Given the description of an element on the screen output the (x, y) to click on. 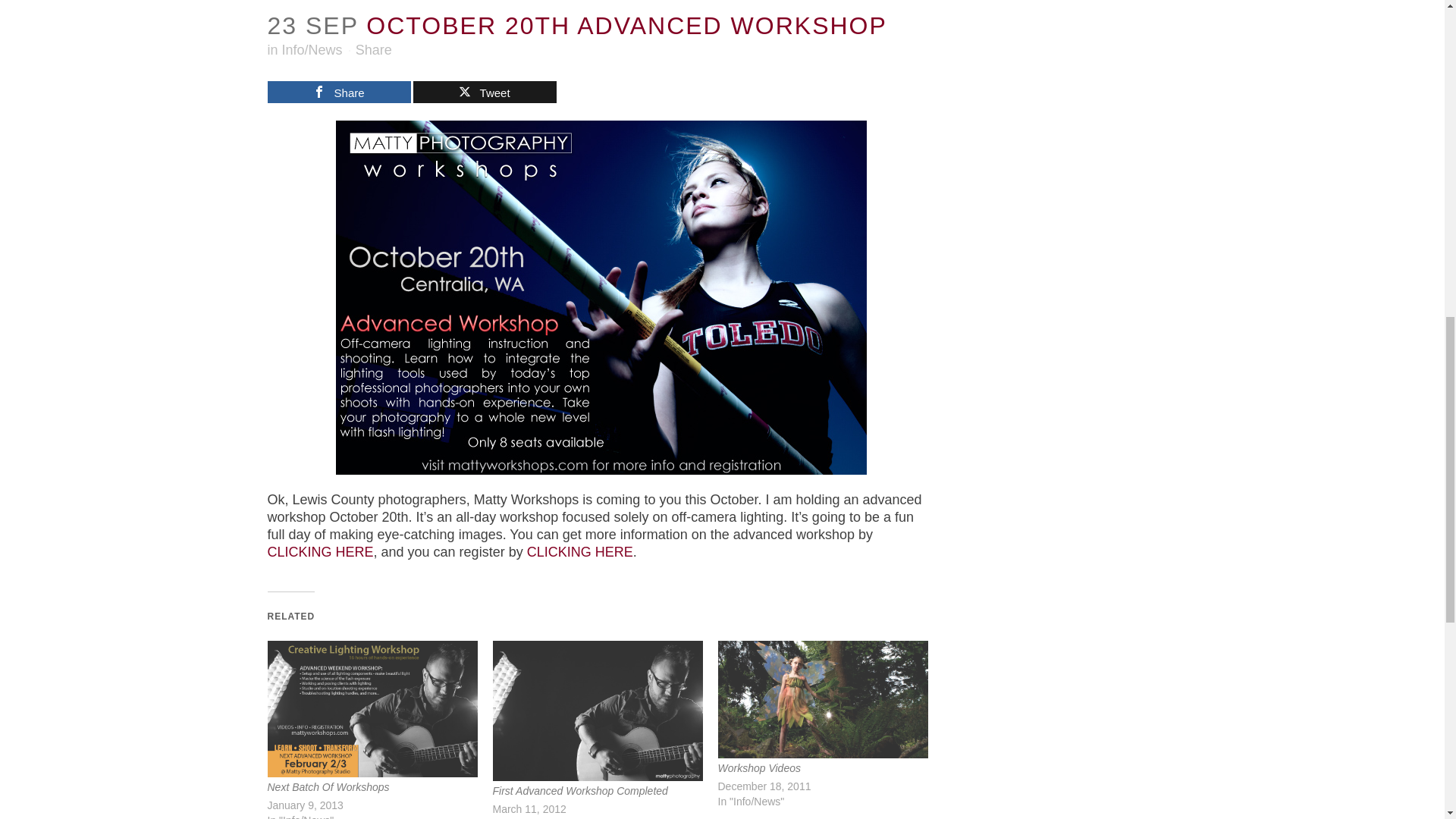
Next Batch Of Workshops (371, 708)
Registration Dates (580, 551)
Advanced (319, 551)
First Advanced Workshop Completed (598, 710)
First Advanced Workshop Completed (580, 790)
Next Batch Of Workshops (327, 787)
Workshop Videos (822, 699)
Workshop Videos (758, 767)
